Given the description of an element on the screen output the (x, y) to click on. 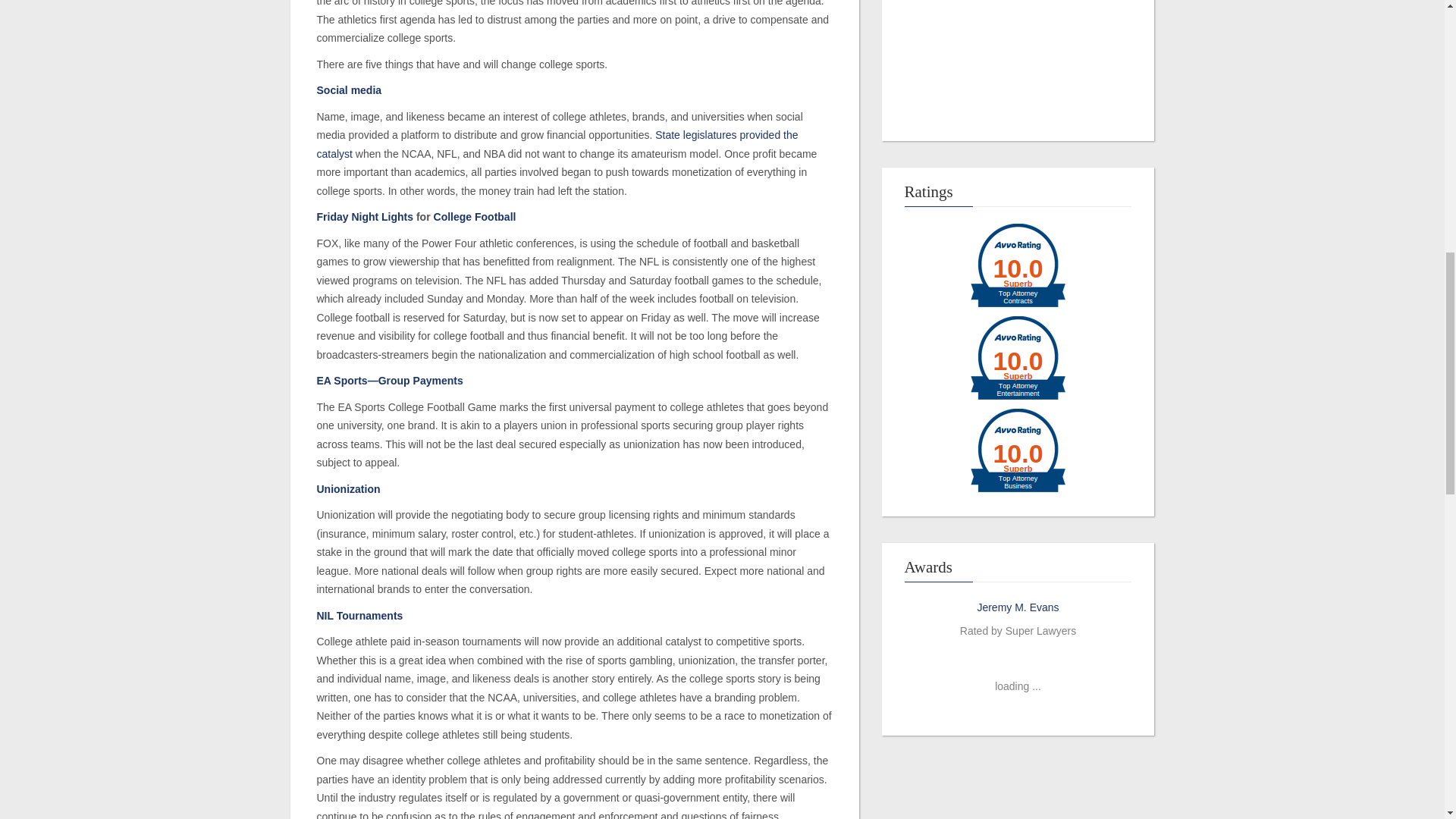
Social media (349, 90)
State legislatures provided the catalyst (557, 143)
NIL Tournaments (360, 615)
Friday Night Lights (365, 216)
College Football (474, 216)
Unionization (348, 489)
